Given the description of an element on the screen output the (x, y) to click on. 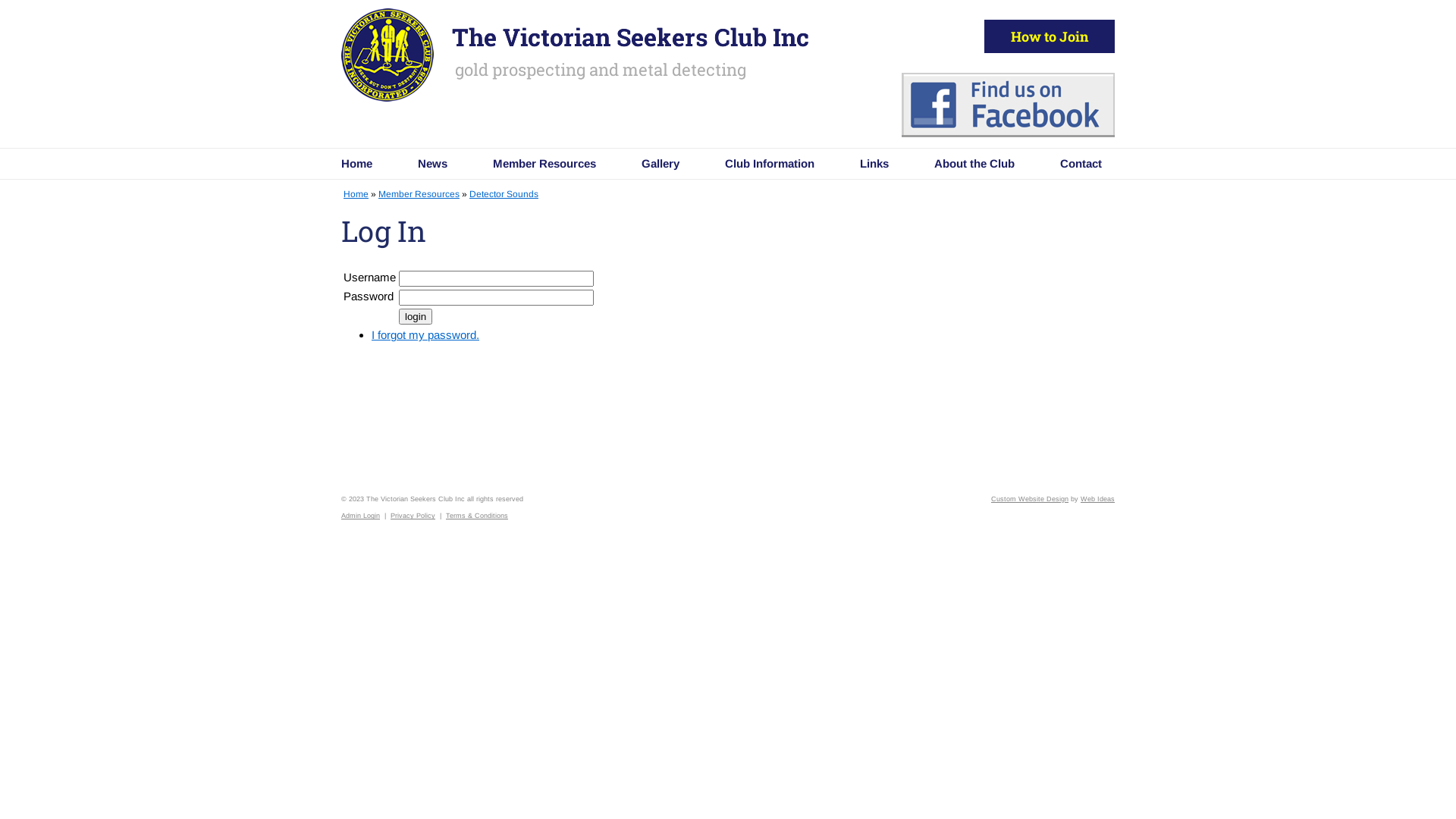
Gallery Element type: text (660, 163)
I forgot my password. Element type: text (425, 334)
Home Element type: text (355, 193)
Privacy Policy Element type: text (412, 515)
News Element type: text (432, 163)
Terms & Conditions Element type: text (476, 515)
Home Element type: text (368, 163)
About the Club Element type: text (974, 163)
Admin Login Element type: text (360, 515)
Detector Sounds Element type: text (503, 193)
Custom Website Design Element type: text (1029, 498)
Web Ideas Element type: text (1097, 498)
How to Join Element type: text (1049, 36)
Member Resources Element type: text (418, 193)
Contact Element type: text (1069, 163)
Links Element type: text (874, 163)
Member Resources Element type: text (544, 163)
login Element type: text (415, 316)
Club Information Element type: text (769, 163)
